Given the description of an element on the screen output the (x, y) to click on. 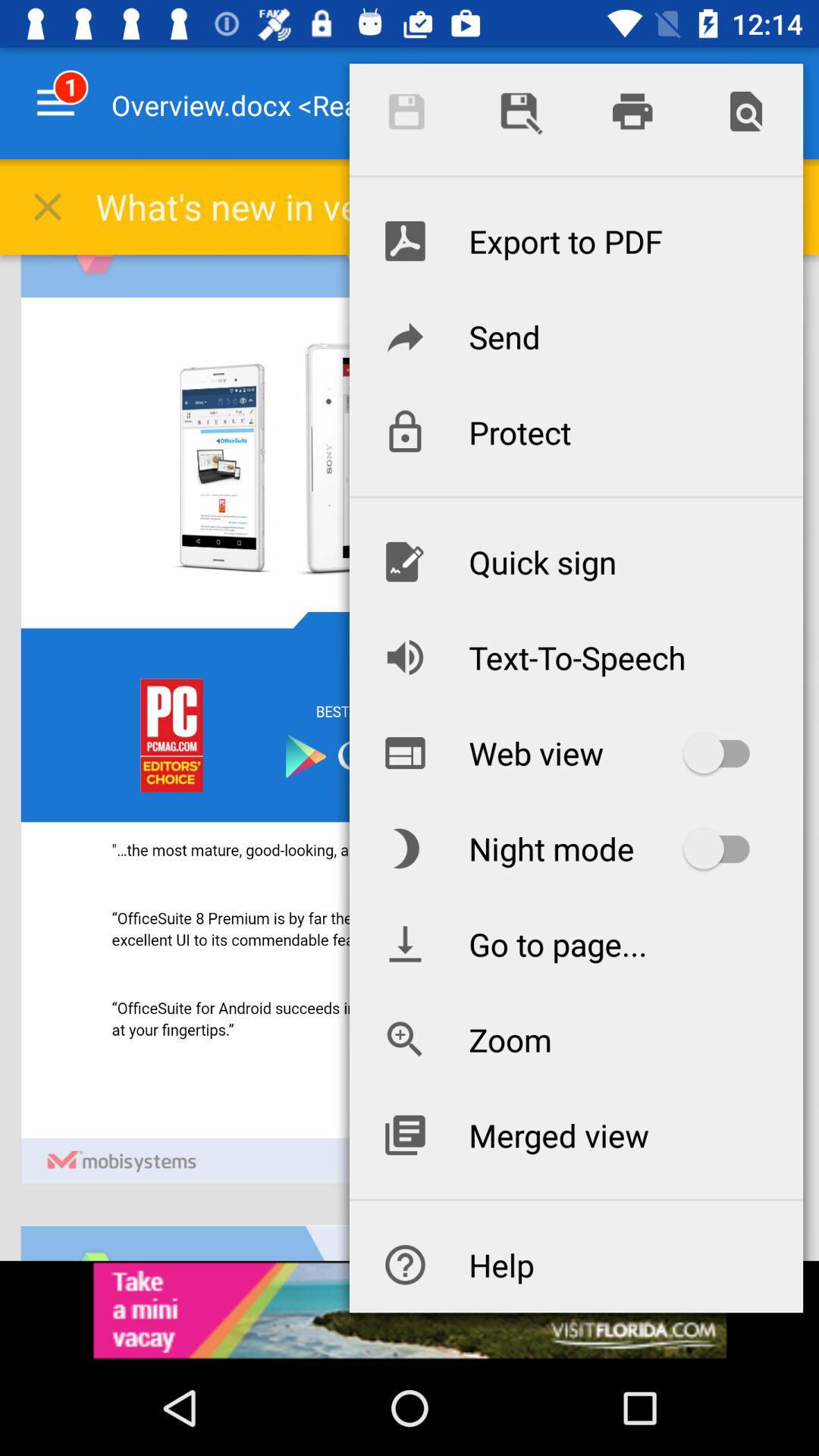
click icon below the night mode icon (576, 943)
